Given the description of an element on the screen output the (x, y) to click on. 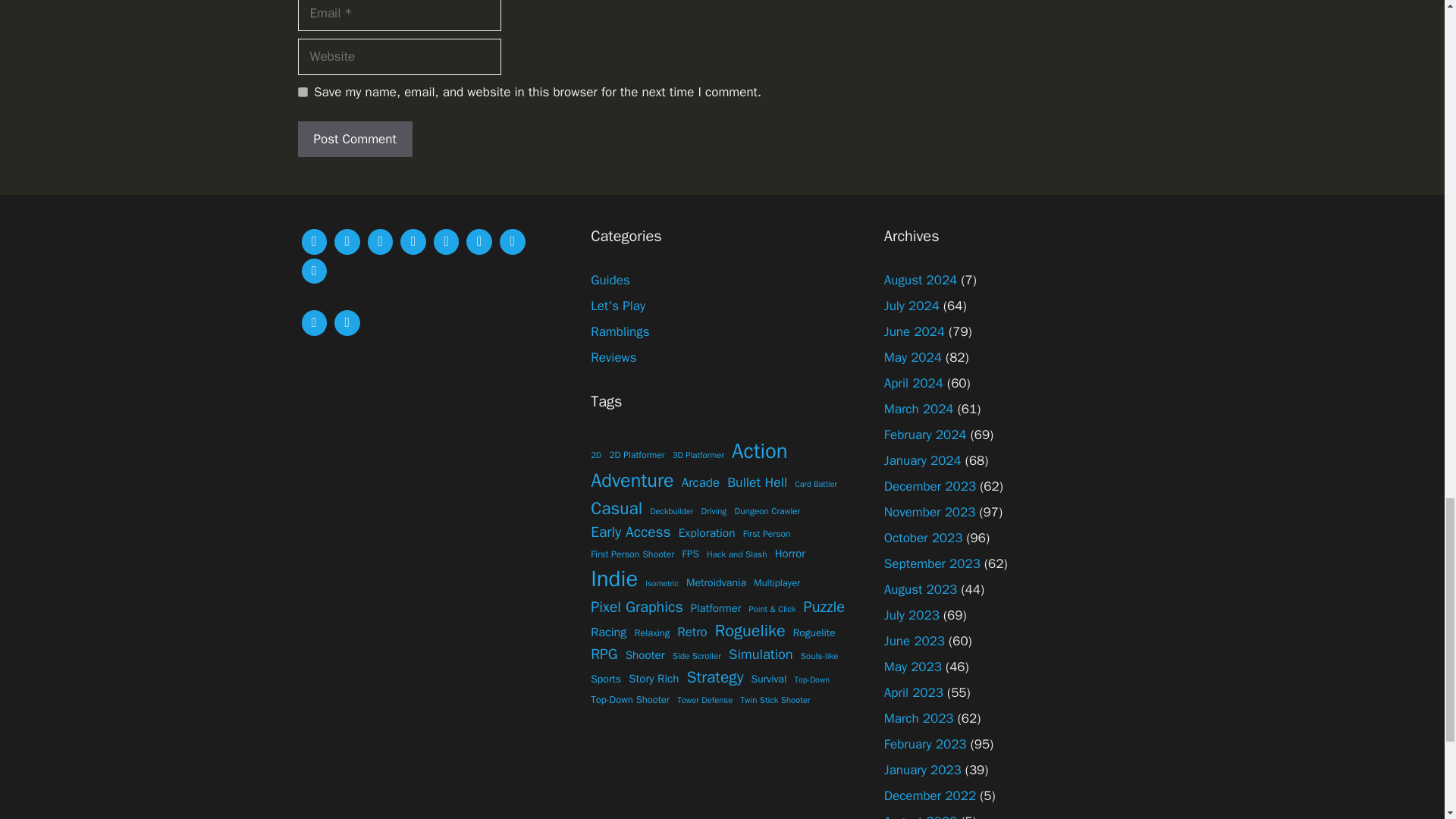
yes (302, 91)
Post Comment (354, 139)
Post Comment (354, 139)
